Given the description of an element on the screen output the (x, y) to click on. 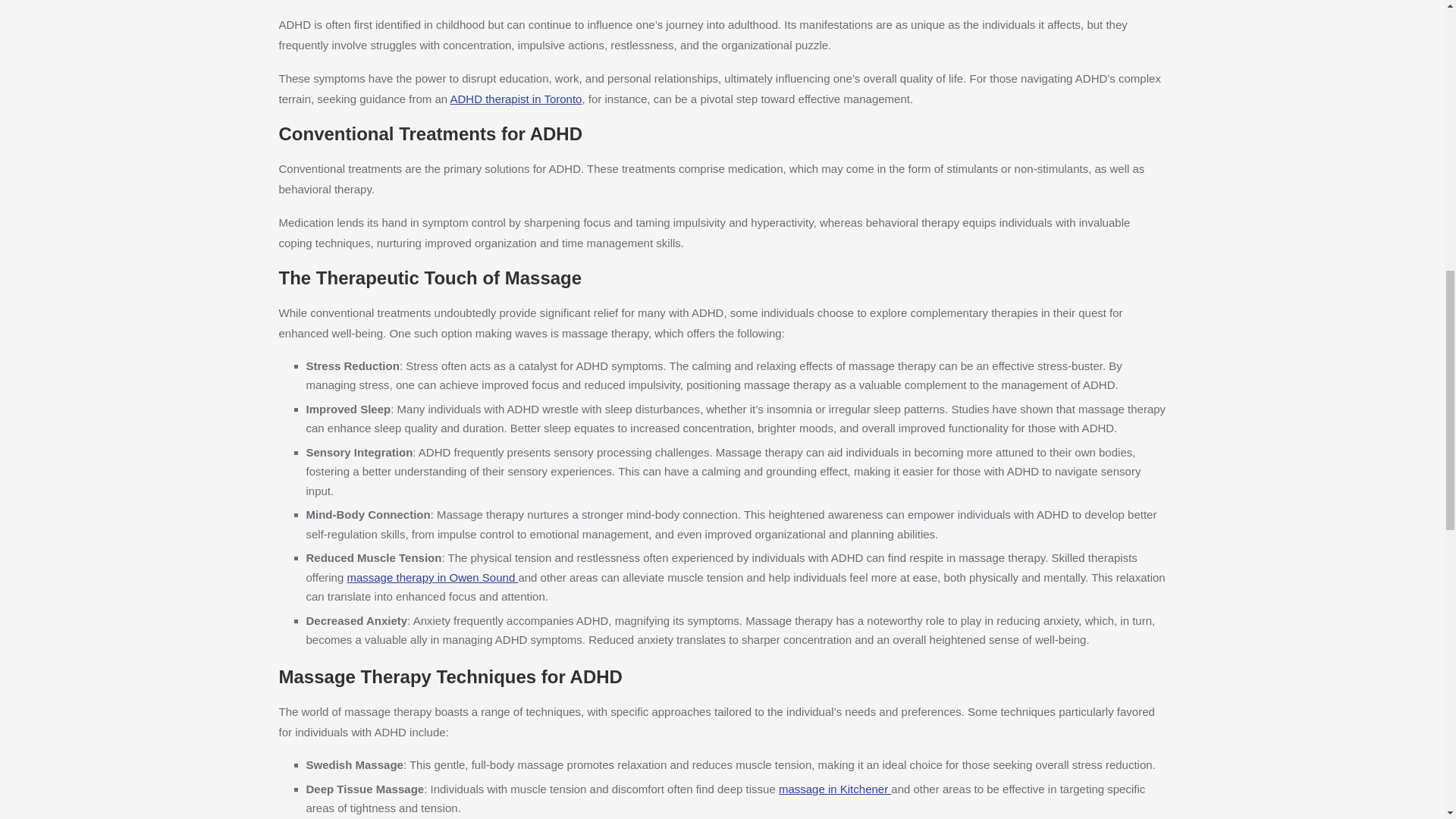
massage in Kitchener (834, 788)
ADHD therapist in Toronto (514, 98)
massage therapy in Owen Sound (432, 576)
